Given the description of an element on the screen output the (x, y) to click on. 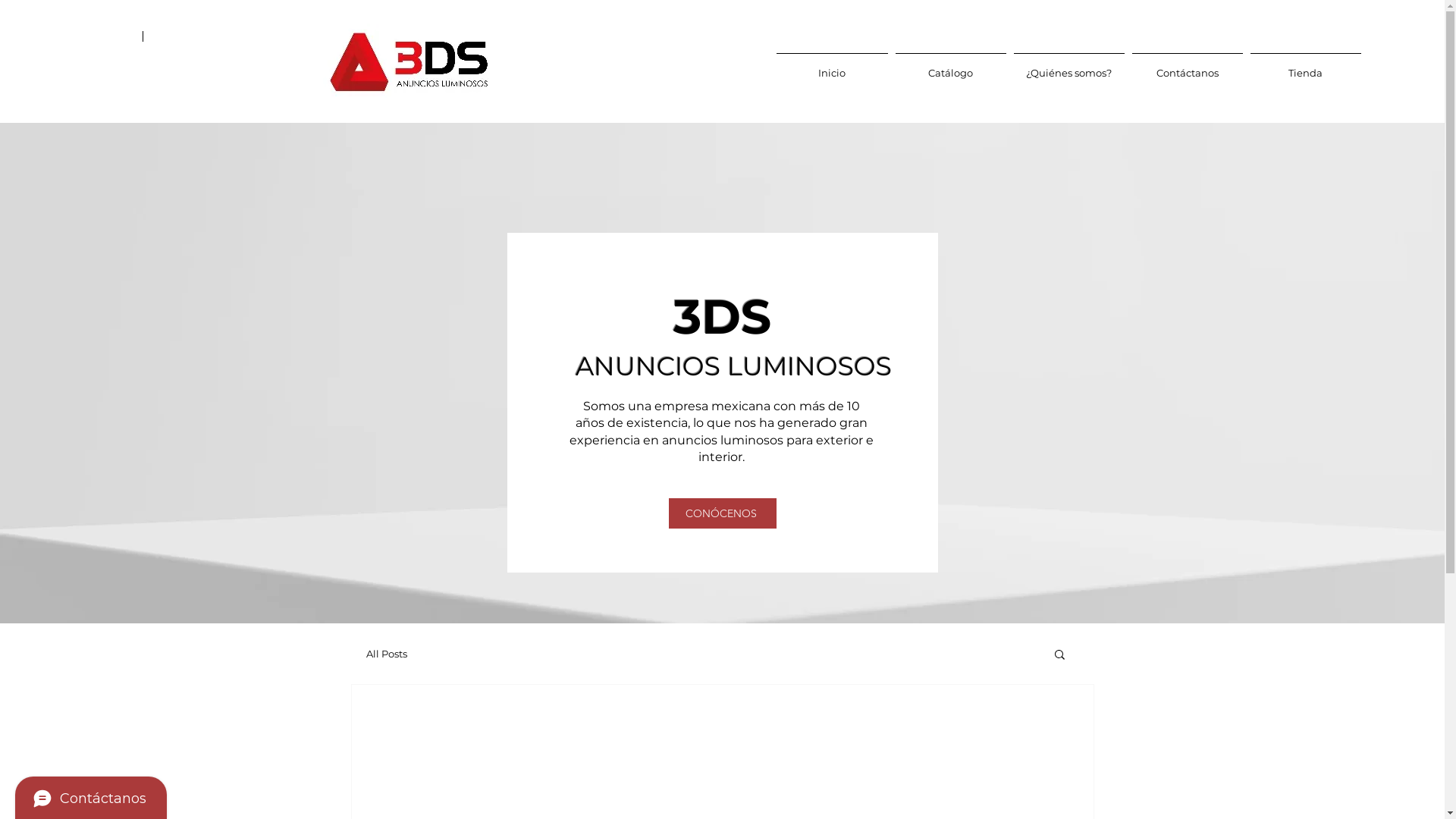
Inicio Element type: text (831, 65)
All Posts Element type: text (385, 653)
Tienda Element type: text (1305, 65)
